Given the description of an element on the screen output the (x, y) to click on. 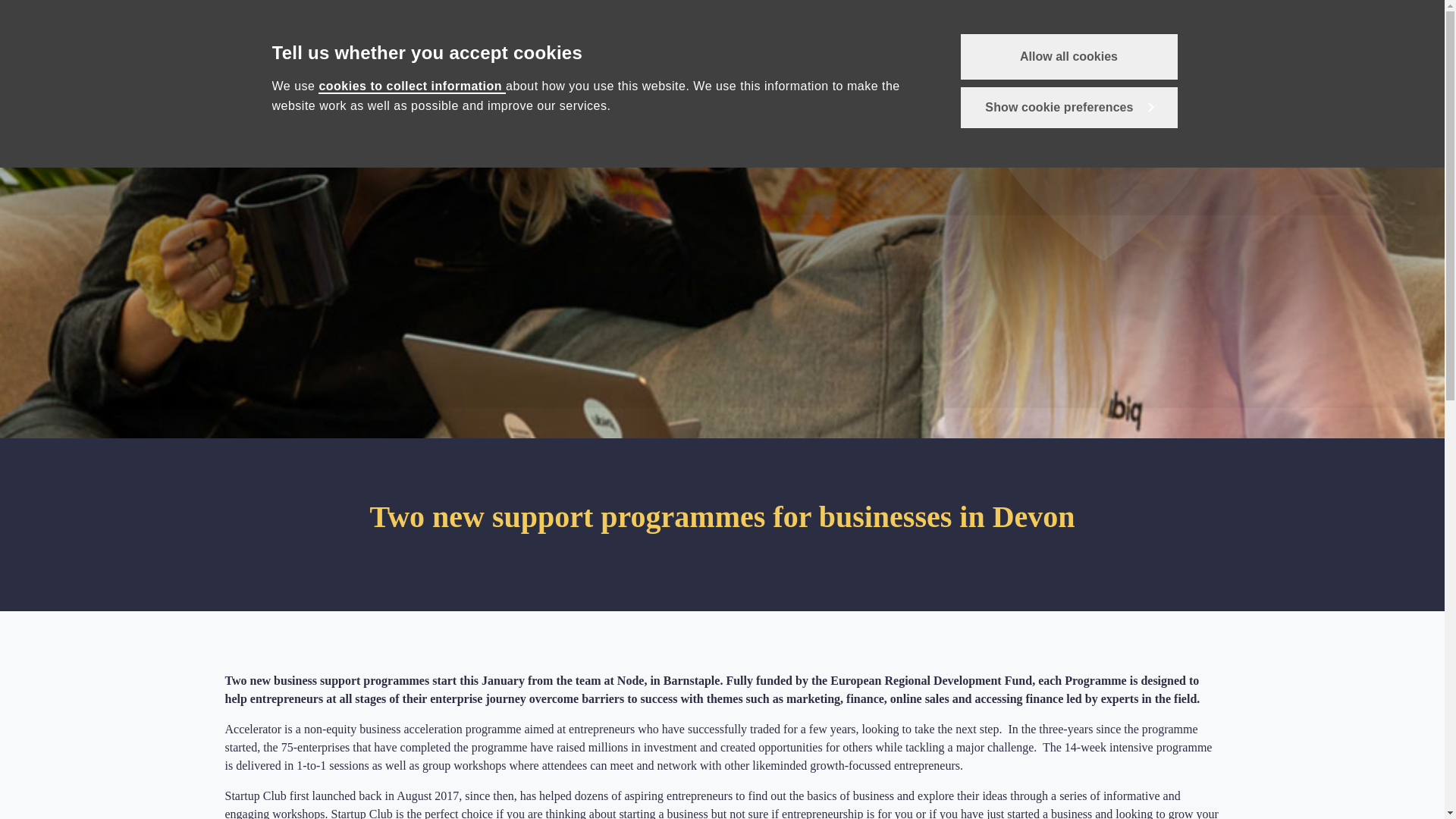
Show cookie preferences (1067, 106)
cookies to collect information (411, 85)
Allow all cookies (1067, 56)
